Given the description of an element on the screen output the (x, y) to click on. 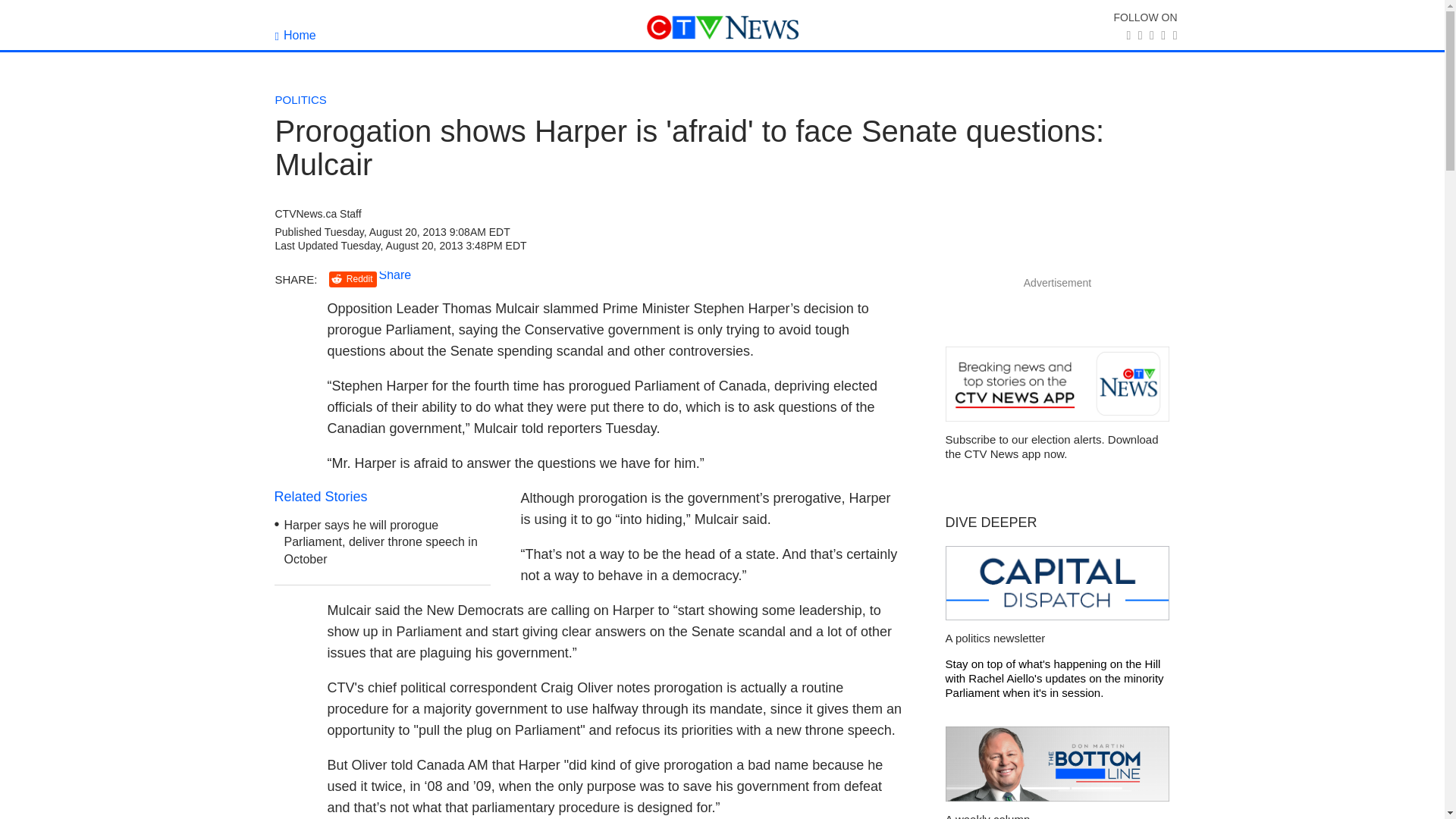
Reddit (353, 279)
POLITICS (300, 99)
Share (395, 274)
Home (295, 34)
